Given the description of an element on the screen output the (x, y) to click on. 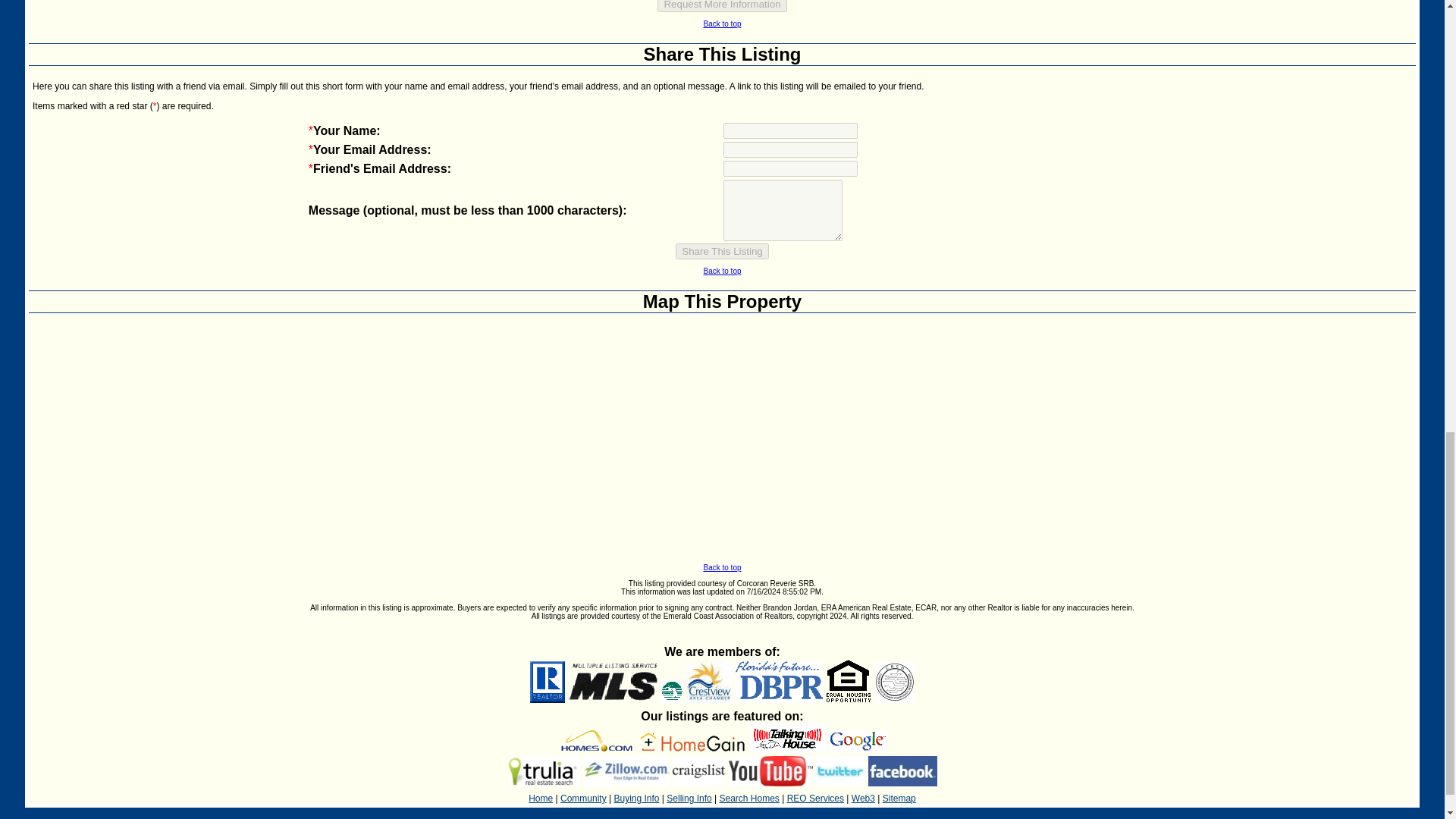
Share This Listing (721, 251)
Request More Information (722, 6)
Request More Information (722, 6)
Share This Listing (721, 251)
Back to top (722, 23)
Back to top (722, 270)
Share This Listing (721, 54)
